Given the description of an element on the screen output the (x, y) to click on. 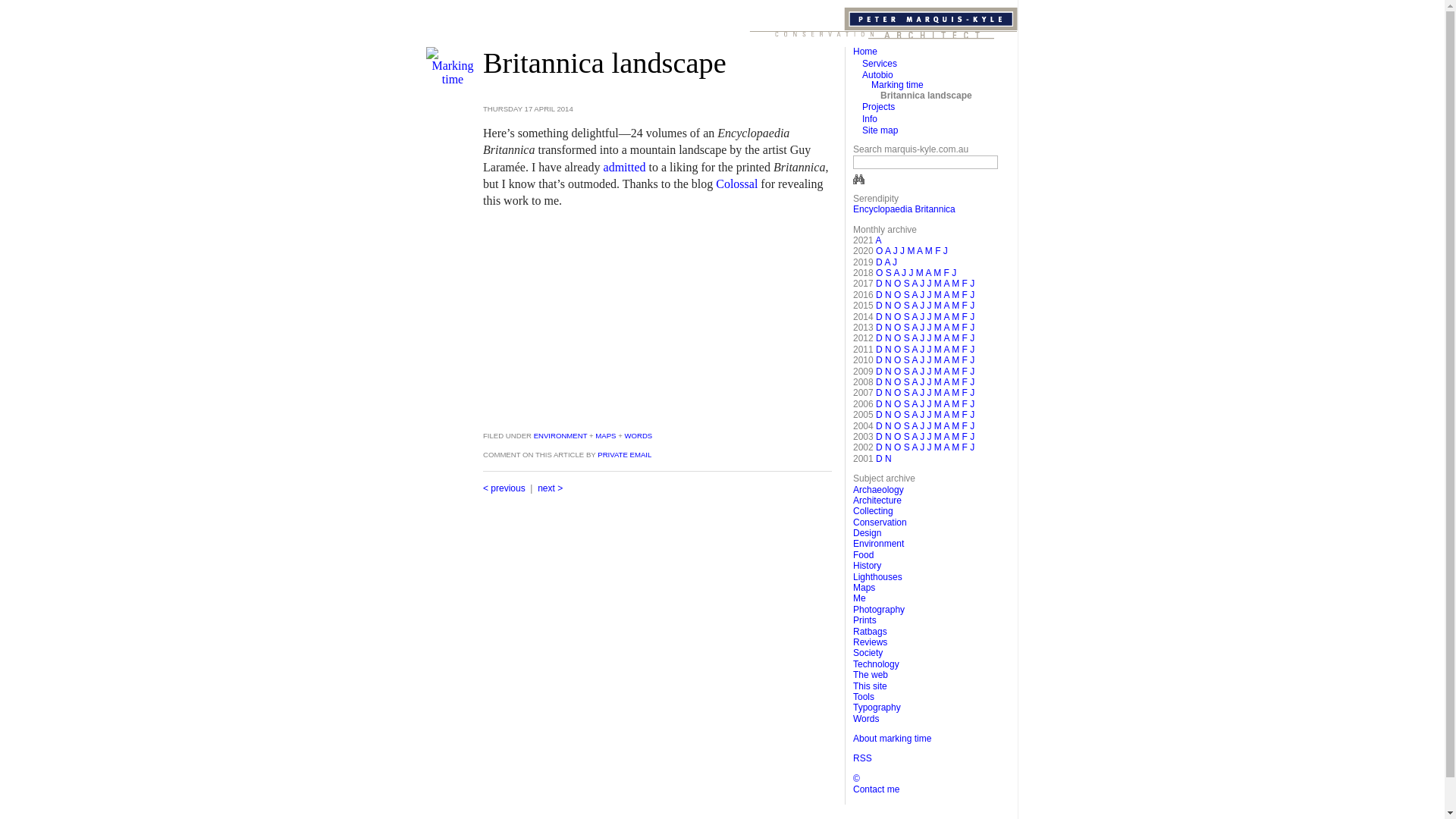
M Element type: text (937, 392)
A Element type: text (913, 436)
O Element type: text (897, 327)
J Element type: text (928, 447)
N Element type: text (887, 305)
J Element type: text (928, 305)
A Element type: text (945, 371)
N Element type: text (887, 349)
Info Element type: text (869, 118)
F Element type: text (964, 283)
Lighthouses Element type: text (877, 576)
A Element type: text (913, 294)
D Element type: text (878, 381)
Conservation Element type: text (879, 522)
A Element type: text (913, 359)
A Element type: text (945, 294)
M Element type: text (937, 371)
M Element type: text (955, 447)
A Element type: text (913, 305)
J Element type: text (928, 294)
S Element type: text (906, 337)
Maps Element type: text (864, 587)
S Element type: text (906, 371)
M Element type: text (919, 272)
Contact me Element type: text (876, 789)
J Element type: text (945, 250)
About marking time Element type: text (892, 738)
A Element type: text (913, 381)
S Element type: text (906, 447)
S Element type: text (906, 414)
J Element type: text (971, 305)
A Element type: text (913, 283)
M Element type: text (955, 403)
F Element type: text (964, 327)
O Element type: text (897, 436)
A Element type: text (945, 436)
F Element type: text (964, 337)
M Element type: text (955, 414)
J Element type: text (921, 337)
J Element type: text (971, 414)
O Element type: text (897, 381)
admitted Element type: text (624, 166)
A Element type: text (913, 371)
M Element type: text (955, 359)
O Element type: text (897, 447)
Tools Element type: text (863, 696)
O Element type: text (897, 337)
A Element type: text (945, 447)
A Element type: text (913, 349)
This site Element type: text (870, 685)
J Element type: text (921, 327)
A Element type: text (913, 337)
J Element type: text (921, 403)
Encyclopaedia Britannica Element type: text (904, 208)
Reviews Element type: text (870, 642)
J Element type: text (971, 371)
J Element type: text (971, 294)
F Element type: text (964, 403)
S Element type: text (906, 316)
J Element type: text (903, 272)
F Element type: text (964, 349)
F Element type: text (937, 250)
A Element type: text (945, 316)
S Element type: text (906, 294)
N Element type: text (887, 458)
O Element type: text (897, 371)
F Element type: text (964, 316)
O Element type: text (878, 250)
D Element type: text (878, 371)
J Element type: text (921, 305)
J Element type: text (971, 283)
J Element type: text (971, 381)
A Element type: text (878, 240)
S Element type: text (906, 381)
Services Element type: text (879, 63)
Typography Element type: text (876, 707)
N Element type: text (887, 294)
D Element type: text (878, 262)
J Element type: text (971, 436)
M Element type: text (955, 337)
J Element type: text (921, 359)
F Element type: text (964, 359)
O Element type: text (878, 272)
M Element type: text (955, 305)
S Element type: text (906, 425)
A Element type: text (945, 283)
D Element type: text (878, 392)
A Element type: text (913, 403)
Marking time Element type: text (897, 84)
M Element type: text (937, 349)
D Element type: text (878, 403)
J Element type: text (928, 425)
J Element type: text (921, 425)
Architecture Element type: text (877, 500)
N Element type: text (887, 337)
F Element type: text (964, 447)
J Element type: text (971, 337)
N Element type: text (887, 327)
S Element type: text (906, 349)
J Element type: text (928, 283)
MAPS Element type: text (605, 435)
A Element type: text (913, 425)
O Element type: text (897, 392)
A Element type: text (945, 425)
S Element type: text (906, 436)
S Element type: text (906, 403)
O Element type: text (897, 349)
J Element type: text (971, 403)
M Element type: text (955, 327)
WORDS Element type: text (638, 435)
D Element type: text (878, 436)
N Element type: text (887, 381)
next > Element type: text (549, 488)
A Element type: text (913, 414)
A Element type: text (913, 327)
F Element type: text (964, 414)
J Element type: text (928, 359)
Enter key words in this box Element type: hover (925, 162)
M Element type: text (937, 359)
D Element type: text (878, 294)
J Element type: text (971, 349)
M Element type: text (928, 250)
D Element type: text (878, 283)
S Element type: text (906, 283)
N Element type: text (887, 447)
F Element type: text (964, 436)
M Element type: text (937, 425)
ENVIRONMENT Element type: text (558, 435)
D Element type: text (878, 414)
F Element type: text (964, 392)
Design Element type: text (867, 532)
Projects Element type: text (878, 106)
S Element type: text (906, 327)
N Element type: text (887, 359)
J Element type: text (921, 436)
A Element type: text (945, 349)
A Element type: text (913, 392)
A Element type: text (945, 359)
M Element type: text (937, 381)
F Element type: text (964, 371)
S Element type: text (906, 305)
J Element type: text (928, 371)
D Element type: text (878, 316)
N Element type: text (887, 425)
PRIVATE EMAIL Element type: text (624, 454)
M Element type: text (937, 327)
J Element type: text (971, 327)
Technology Element type: text (876, 663)
S Element type: text (888, 272)
A Element type: text (945, 403)
M Element type: text (955, 349)
J Element type: text (928, 414)
M Element type: text (937, 436)
S Element type: text (906, 359)
M Element type: text (955, 425)
M Element type: text (937, 337)
M Element type: text (955, 316)
N Element type: text (887, 316)
A Element type: text (913, 447)
J Element type: text (971, 392)
J Element type: text (928, 316)
J Element type: text (928, 436)
J Element type: text (921, 381)
M Element type: text (937, 283)
D Element type: text (878, 359)
J Element type: text (928, 381)
D Element type: text (878, 447)
O Element type: text (897, 283)
O Element type: text (897, 316)
F Element type: text (964, 425)
M Element type: text (955, 283)
A Element type: text (945, 392)
A Element type: text (945, 305)
J Element type: text (921, 294)
M Element type: text (955, 381)
A Element type: text (919, 250)
N Element type: text (887, 414)
J Element type: text (921, 392)
M Element type: text (937, 403)
Archaeology Element type: text (878, 488)
History Element type: text (867, 565)
Autobio Element type: text (877, 74)
M Element type: text (955, 294)
M Element type: text (937, 305)
< previous Element type: text (504, 488)
J Element type: text (928, 392)
Colossal Element type: text (736, 183)
F Element type: text (964, 305)
J Element type: text (928, 349)
J Element type: text (971, 316)
Ratbags Element type: text (870, 631)
J Element type: text (910, 272)
J Element type: text (895, 250)
M Element type: text (910, 250)
D Element type: text (878, 305)
M Element type: text (955, 436)
The web Element type: text (870, 674)
J Element type: text (921, 316)
J Element type: text (928, 403)
O Element type: text (897, 305)
M Element type: text (937, 272)
M Element type: text (937, 414)
D Element type: text (878, 349)
Prints Element type: text (864, 620)
F Element type: text (945, 272)
Me Element type: text (859, 598)
Marking time Element type: hover (452, 78)
Photography Element type: text (878, 609)
F Element type: text (964, 381)
A Element type: text (945, 327)
D Element type: text (878, 425)
O Element type: text (897, 425)
J Element type: text (928, 337)
O Element type: text (897, 359)
N Element type: text (887, 392)
J Element type: text (928, 327)
Environment Element type: text (878, 543)
N Element type: text (887, 371)
A Element type: text (945, 414)
D Element type: text (878, 337)
A Element type: text (886, 262)
O Element type: text (897, 414)
J Element type: text (921, 349)
A Element type: text (945, 337)
J Element type: text (902, 250)
Society Element type: text (867, 652)
A Element type: text (913, 316)
J Element type: text (953, 272)
N Element type: text (887, 283)
A Element type: text (945, 381)
J Element type: text (971, 447)
S Element type: text (906, 392)
J Element type: text (921, 371)
J Element type: text (921, 283)
A Element type: text (895, 272)
A Element type: text (887, 250)
J Element type: text (894, 262)
J Element type: text (971, 359)
Home Element type: text (865, 51)
D Element type: text (878, 458)
D Element type: text (878, 327)
M Element type: text (955, 371)
M Element type: text (955, 392)
Site map Element type: text (879, 130)
Words Element type: text (865, 718)
F Element type: text (964, 294)
Food Element type: text (863, 554)
O Element type: text (897, 294)
O Element type: text (897, 403)
J Element type: text (971, 425)
M Element type: text (937, 447)
J Element type: text (921, 414)
A Element type: text (927, 272)
M Element type: text (937, 316)
Collecting Element type: text (873, 510)
RSS Element type: text (862, 758)
N Element type: text (887, 403)
J Element type: text (921, 447)
M Element type: text (937, 294)
N Element type: text (887, 436)
